Given the description of an element on the screen output the (x, y) to click on. 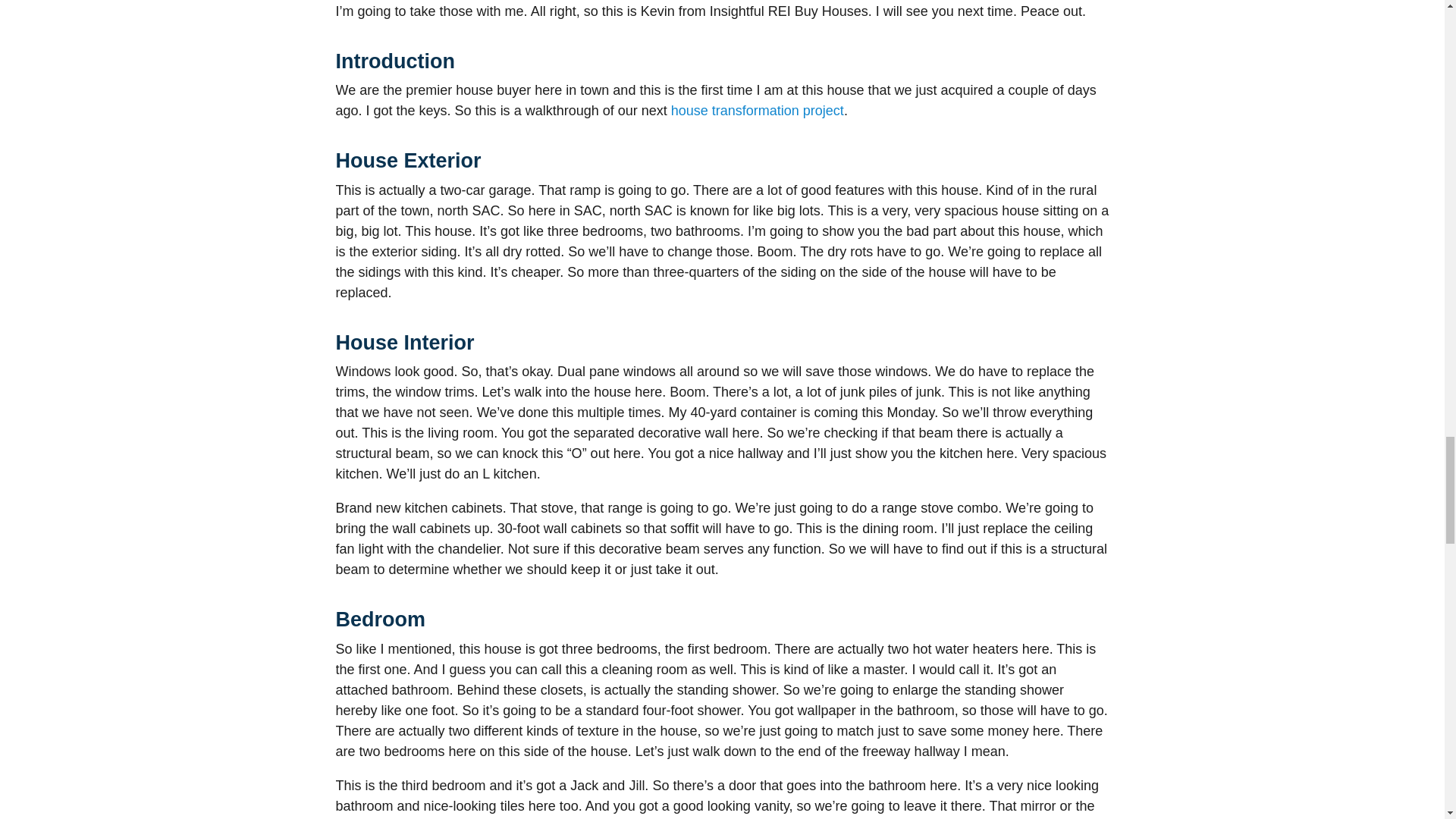
house transformation project (757, 110)
